Given the description of an element on the screen output the (x, y) to click on. 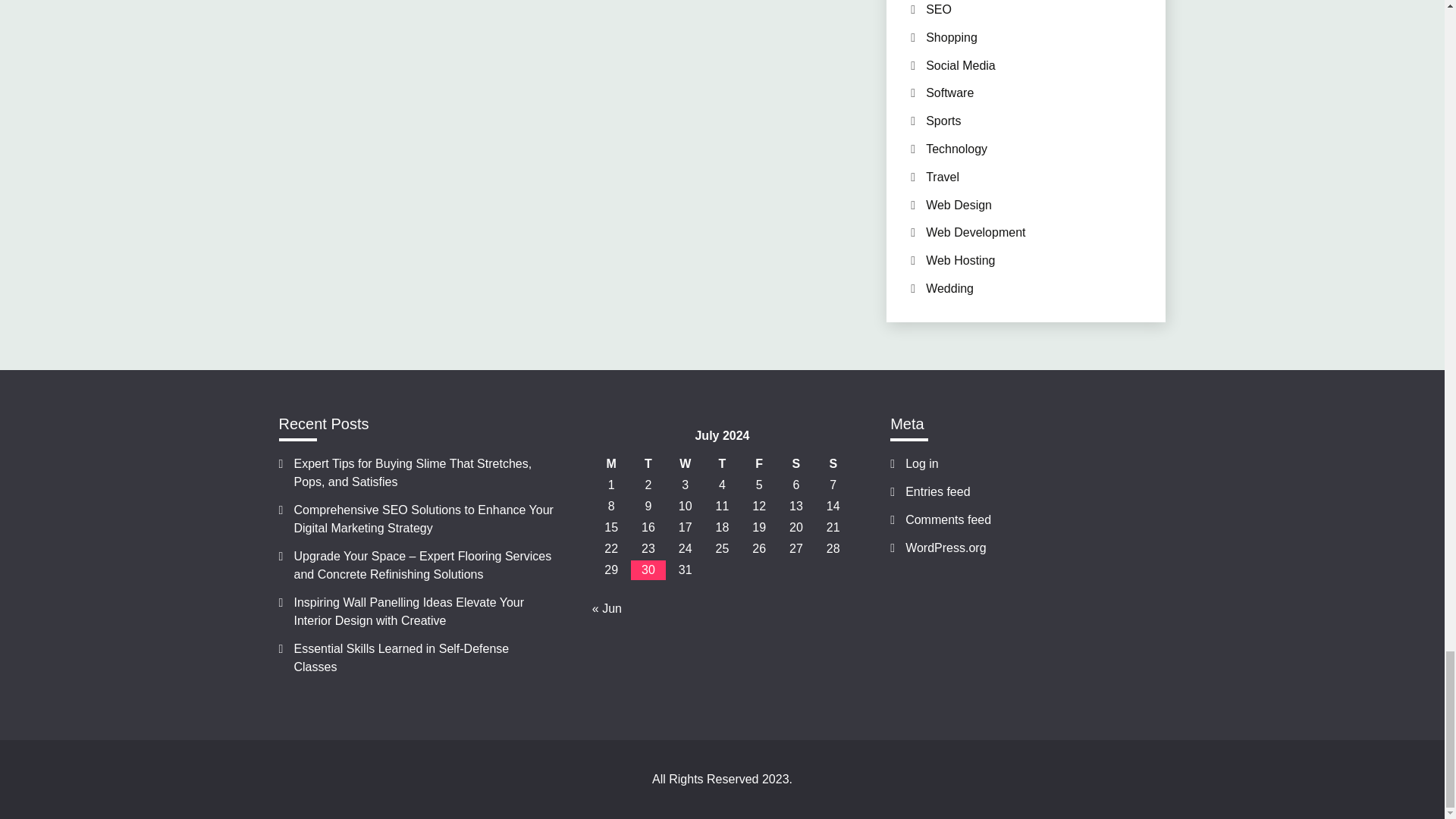
Thursday (721, 464)
Tuesday (648, 464)
Wednesday (684, 464)
Monday (611, 464)
Friday (759, 464)
Saturday (795, 464)
Sunday (832, 464)
